Given the description of an element on the screen output the (x, y) to click on. 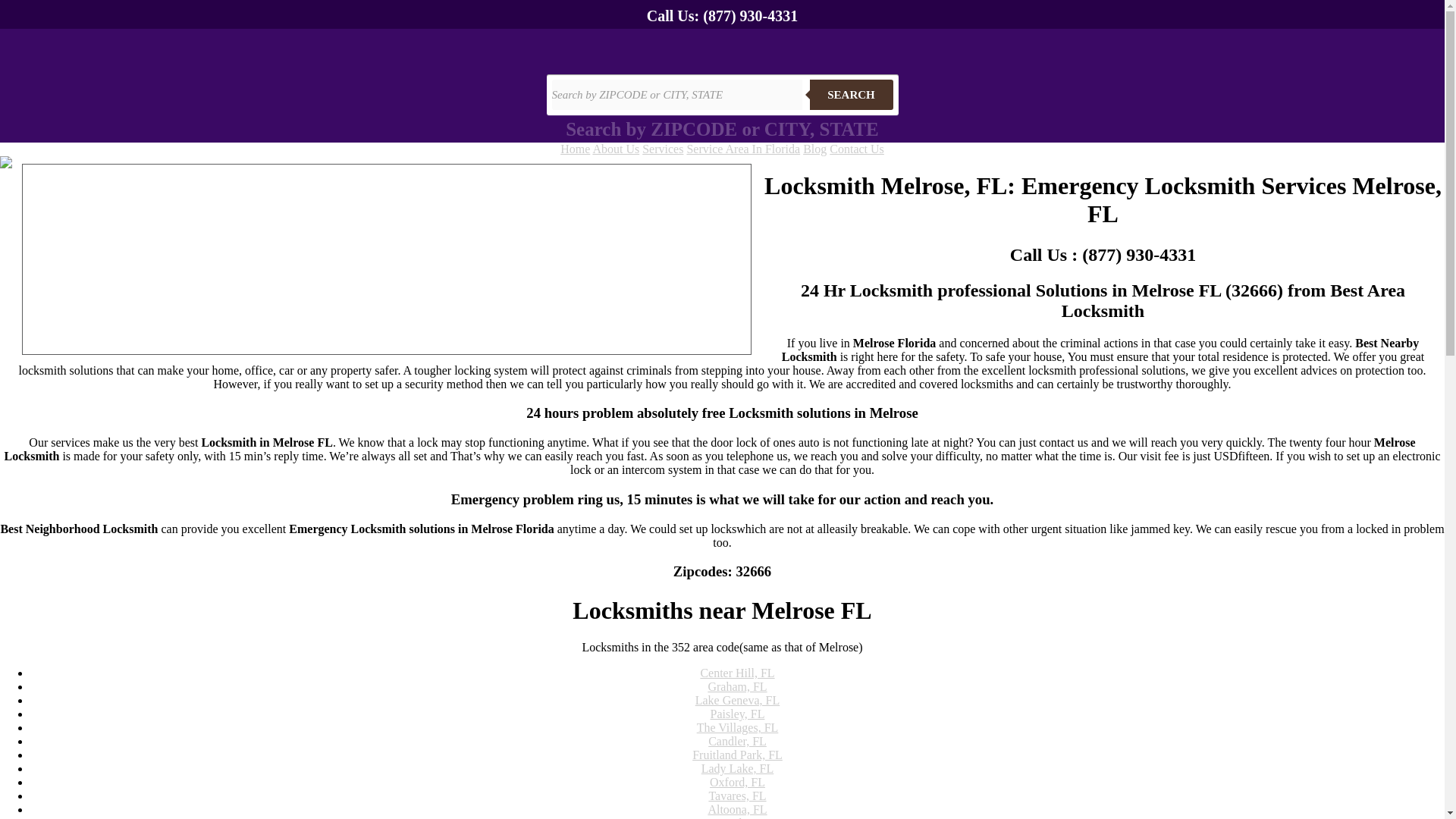
Astatula, FL (736, 817)
Candler, FL (737, 740)
Fruitland Park, FL (738, 754)
Oxford, FL (737, 781)
Contact Us (856, 148)
Altoona, FL (737, 809)
Tavares, FL (736, 795)
SEARCH (851, 94)
Home (574, 148)
